Given the description of an element on the screen output the (x, y) to click on. 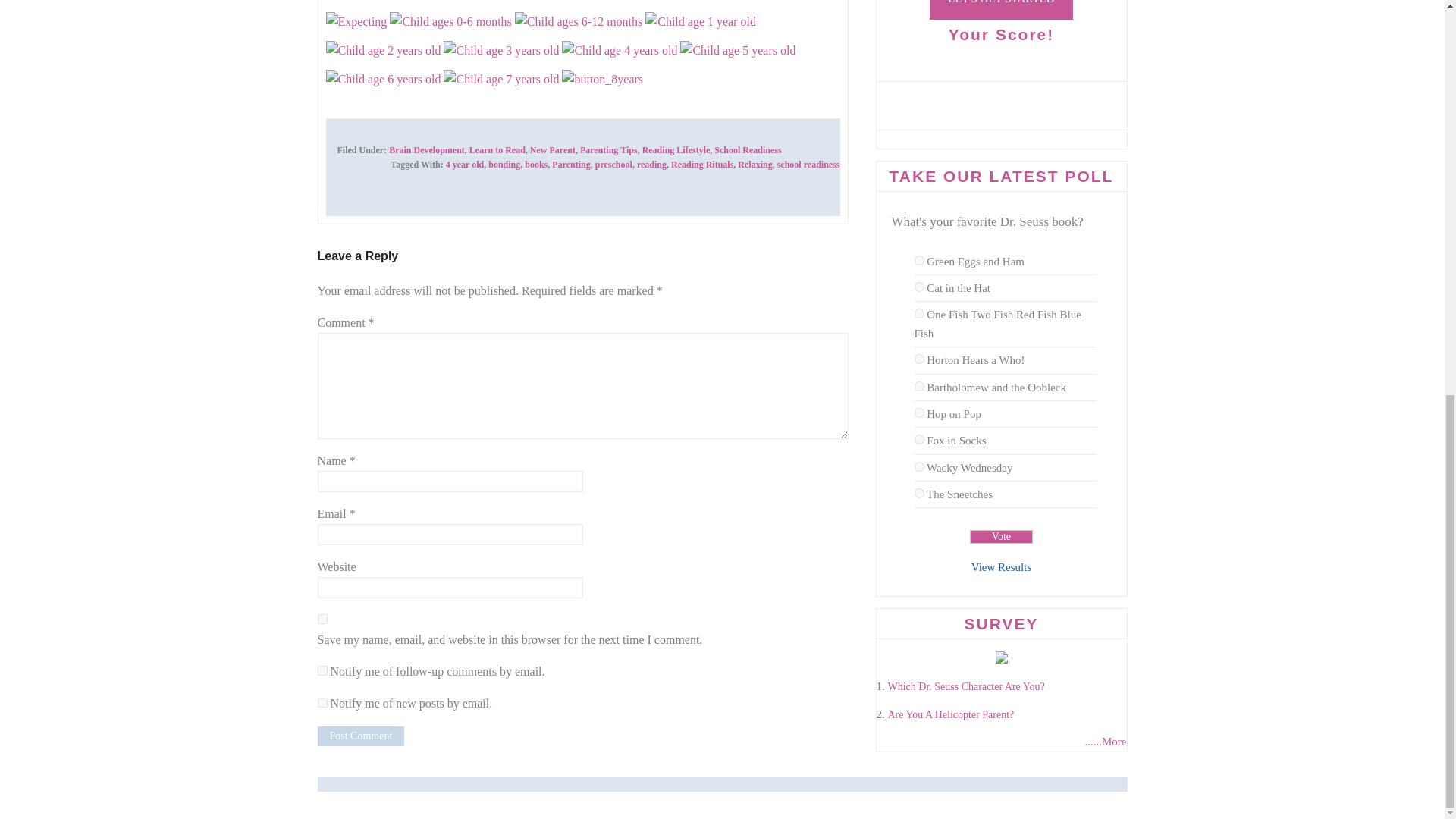
25 (919, 260)
29 (919, 386)
27 (919, 313)
103 (919, 412)
Post Comment (360, 736)
View Results Of This Poll (1001, 567)
26 (919, 286)
yes (321, 619)
subscribe (321, 702)
28 (919, 358)
